Given the description of an element on the screen output the (x, y) to click on. 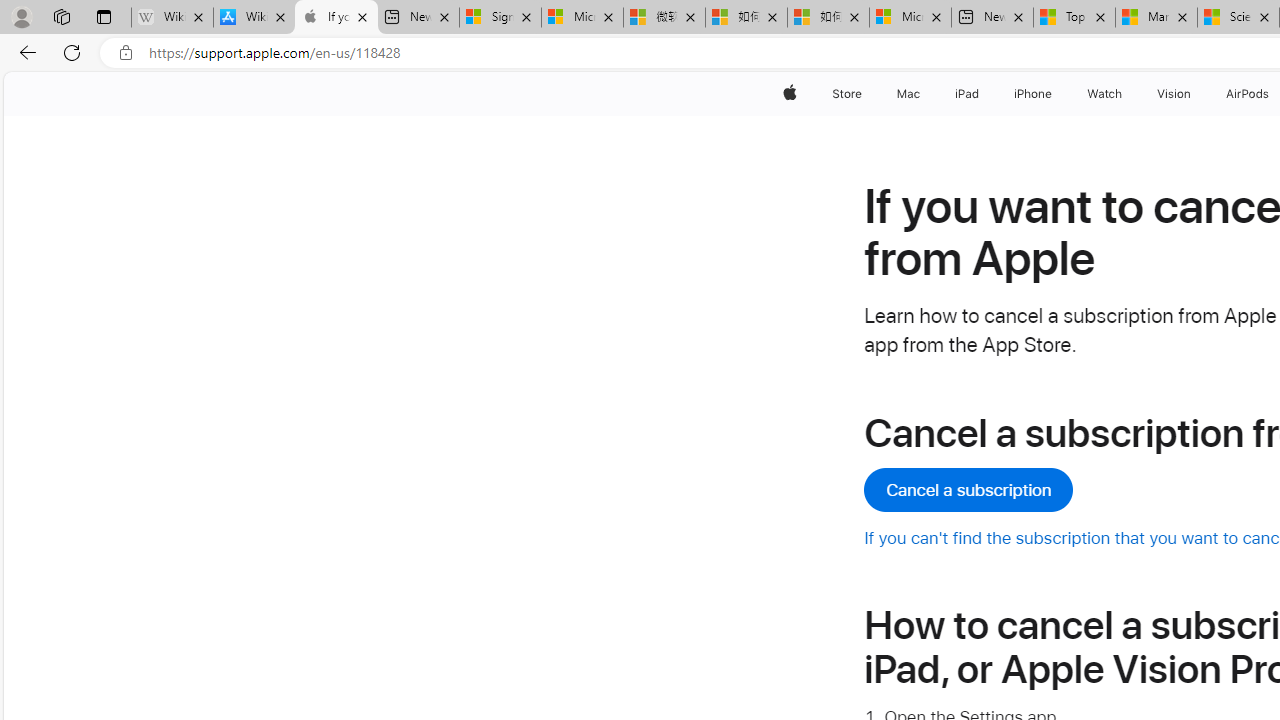
AirPods (1247, 93)
Mac menu (922, 93)
iPad menu (982, 93)
Cancel a subscription (968, 490)
iPad (965, 93)
Vision menu (1195, 93)
